Given the description of an element on the screen output the (x, y) to click on. 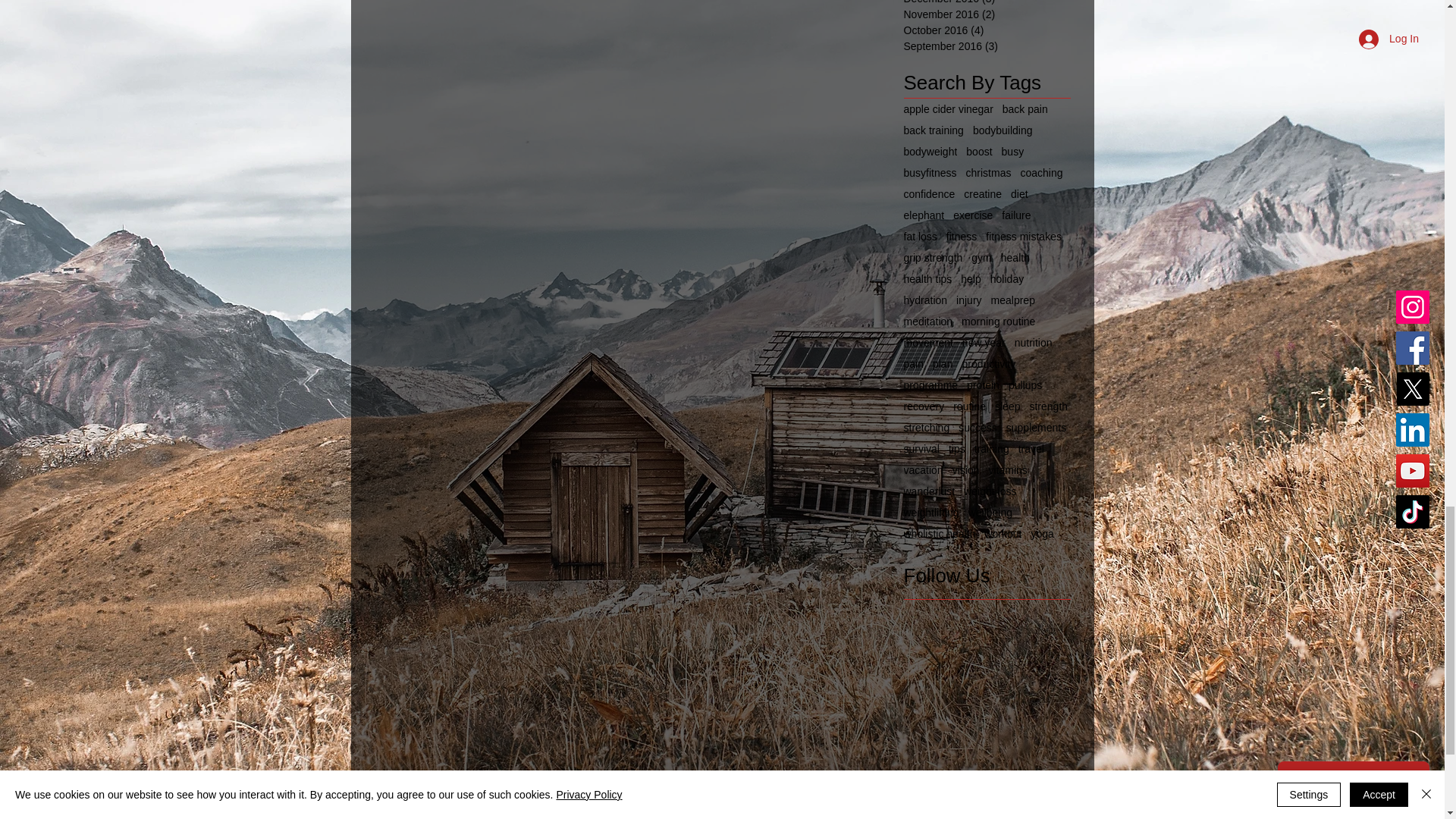
Embedded Content (1092, 798)
